Given the description of an element on the screen output the (x, y) to click on. 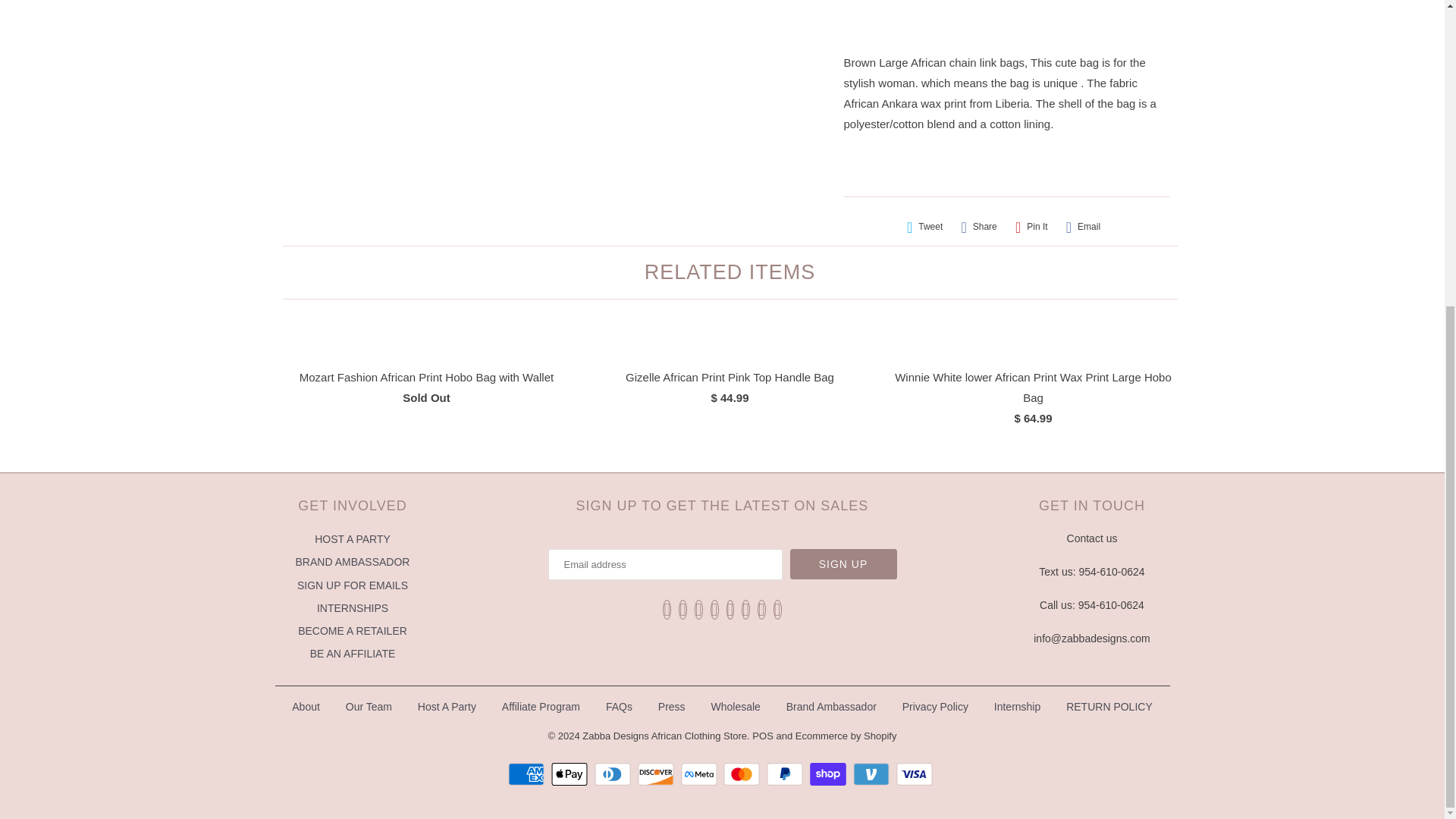
Venmo (873, 773)
Share this on Facebook (978, 226)
Apple Pay (571, 773)
Email this to a friend (1083, 226)
Meta Pay (700, 773)
PayPal (786, 773)
Sign Up (843, 563)
Discover (657, 773)
Mastercard (742, 773)
Visa (916, 773)
